Given the description of an element on the screen output the (x, y) to click on. 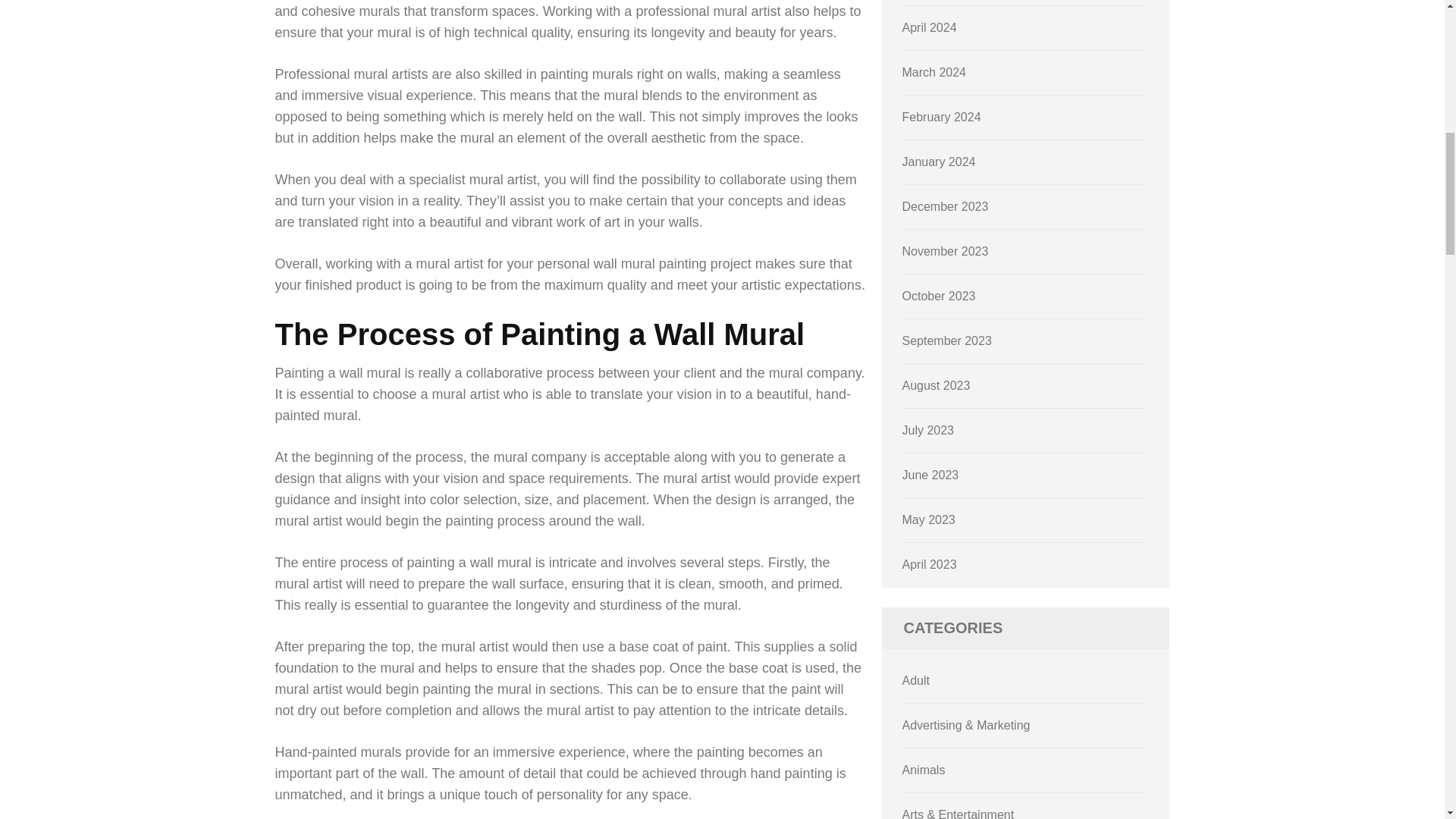
February 2024 (941, 116)
November 2023 (945, 250)
April 2024 (929, 27)
October 2023 (938, 295)
Animals (923, 769)
September 2023 (946, 340)
January 2024 (938, 161)
May 2023 (928, 519)
August 2023 (936, 385)
March 2024 (934, 72)
July 2023 (928, 430)
Adult (916, 680)
December 2023 (945, 205)
June 2023 (930, 474)
April 2023 (929, 563)
